Given the description of an element on the screen output the (x, y) to click on. 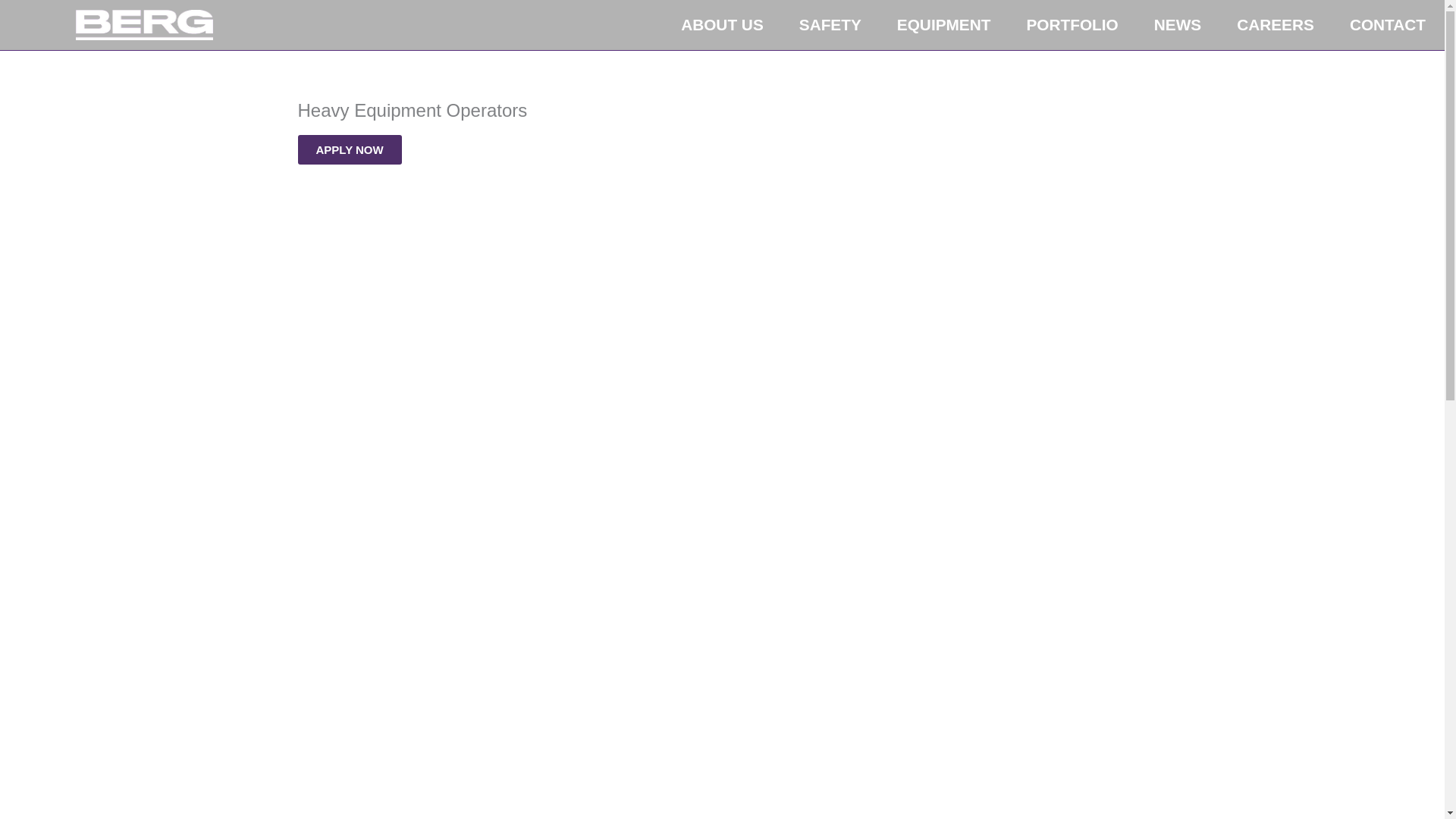
SAFETY (829, 24)
NEWS (1177, 24)
CONTACT (1387, 24)
EQUIPMENT (944, 24)
CAREERS (1274, 24)
ABOUT US (721, 24)
PORTFOLIO (1071, 24)
